Given the description of an element on the screen output the (x, y) to click on. 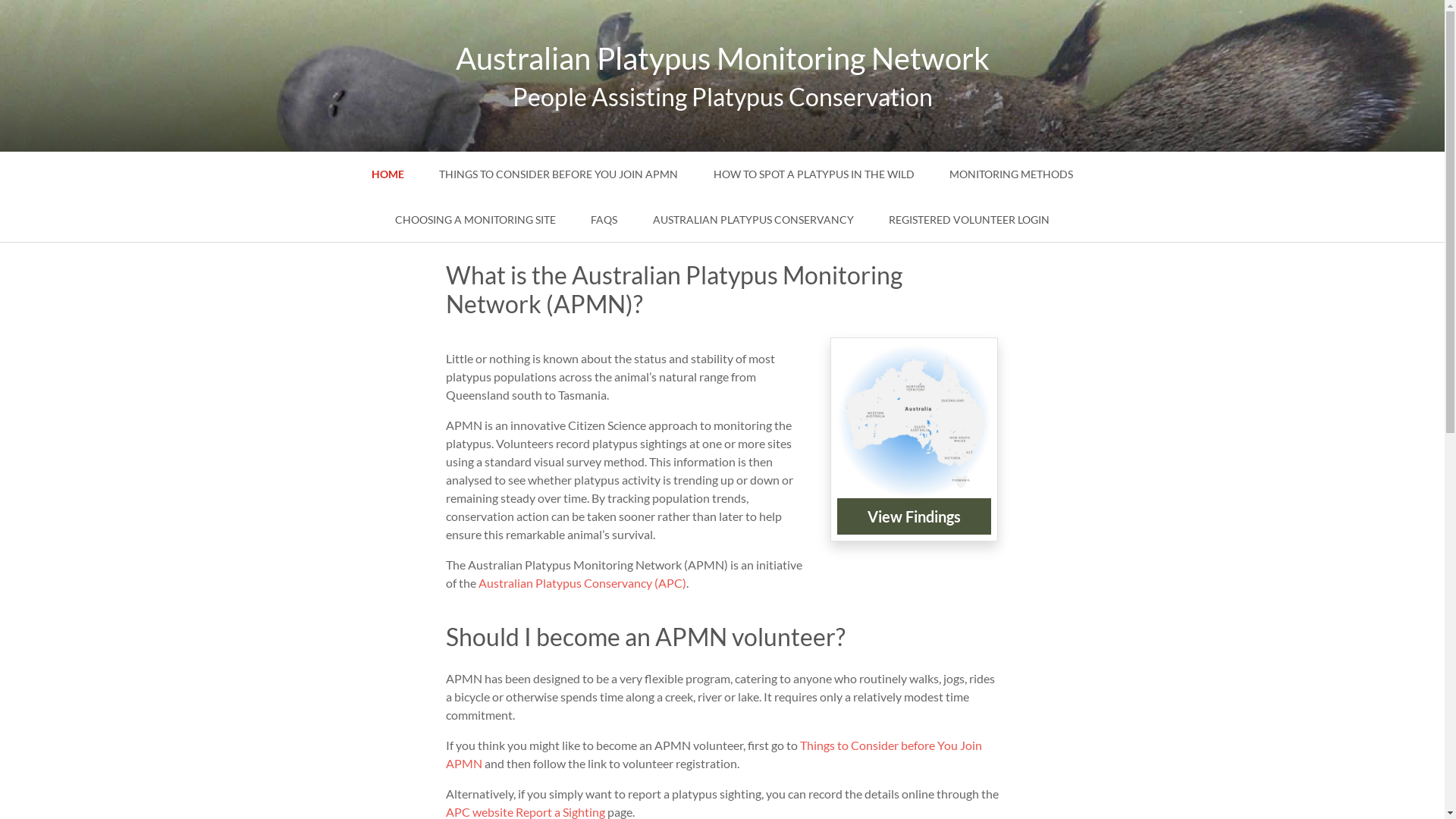
FAQS Element type: text (603, 218)
MONITORING METHODS Element type: text (1011, 173)
THINGS TO CONSIDER BEFORE YOU JOIN APMN Element type: text (558, 173)
Australian Platypus Conservancy (APC) Element type: text (581, 582)
HOW TO SPOT A PLATYPUS IN THE WILD Element type: text (813, 173)
HOME Element type: text (387, 173)
REGISTERED VOLUNTEER LOGIN Element type: text (968, 218)
AUSTRALIAN PLATYPUS CONSERVANCY Element type: text (753, 218)
CHOOSING A MONITORING SITE Element type: text (475, 218)
View Findings Element type: text (914, 516)
Things to Consider before You Join APMN Element type: text (713, 753)
